Given the description of an element on the screen output the (x, y) to click on. 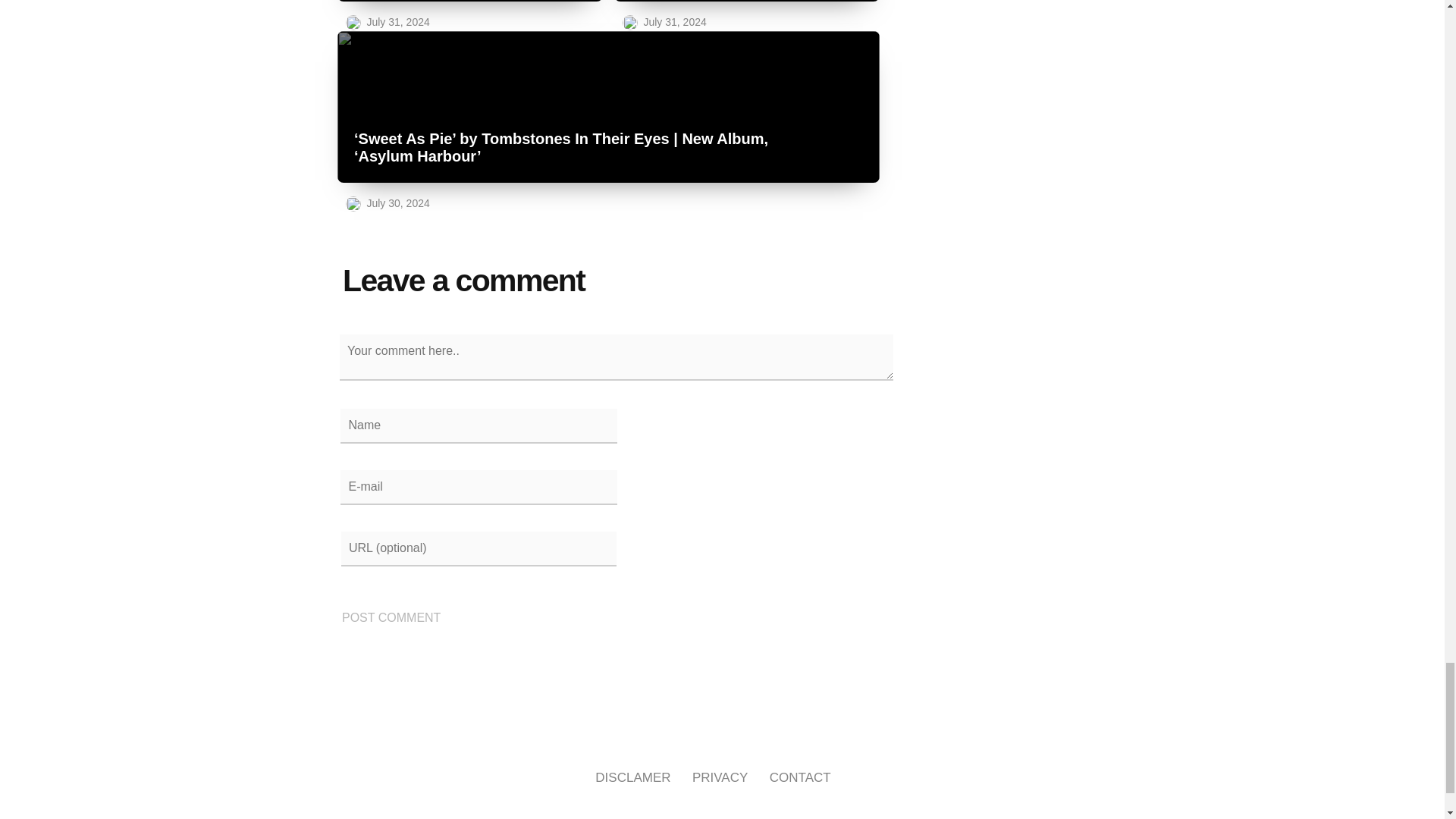
Post Comment (391, 618)
